Given the description of an element on the screen output the (x, y) to click on. 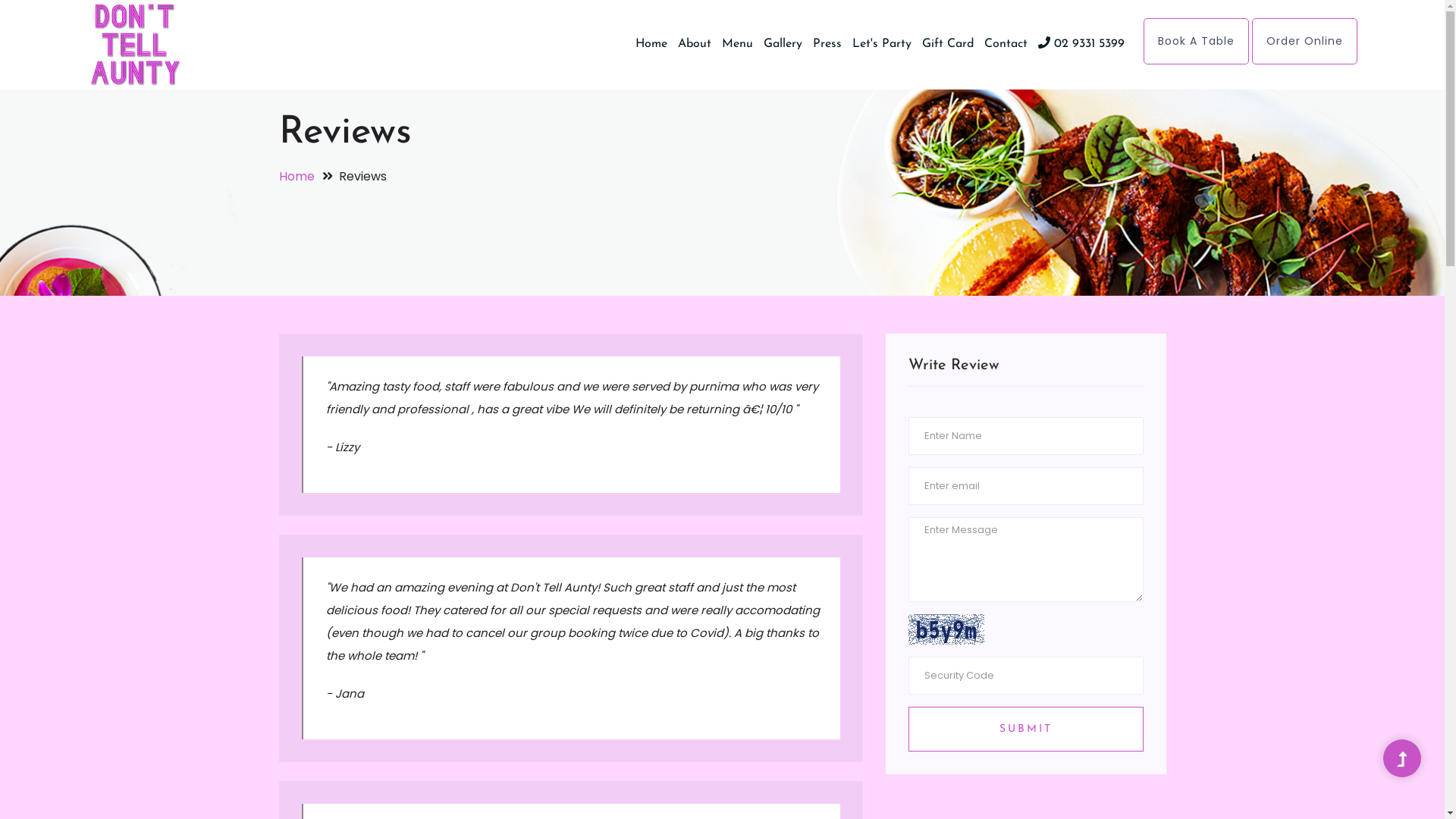
Home Element type: text (296, 175)
Contact Element type: text (1005, 43)
Gift Card Element type: text (947, 43)
SUBMIT Element type: text (1025, 728)
About Element type: text (694, 43)
Home Element type: text (651, 43)
Book A Table Element type: text (1195, 41)
Gallery Element type: text (782, 43)
Let'S Party Element type: text (881, 43)
Press Element type: text (827, 43)
Menu Element type: text (737, 43)
02 9331 5399 Element type: text (1081, 43)
testimonial Element type: hover (946, 629)
Go to Top Element type: hover (1401, 759)
Order Online Element type: text (1304, 41)
